Given the description of an element on the screen output the (x, y) to click on. 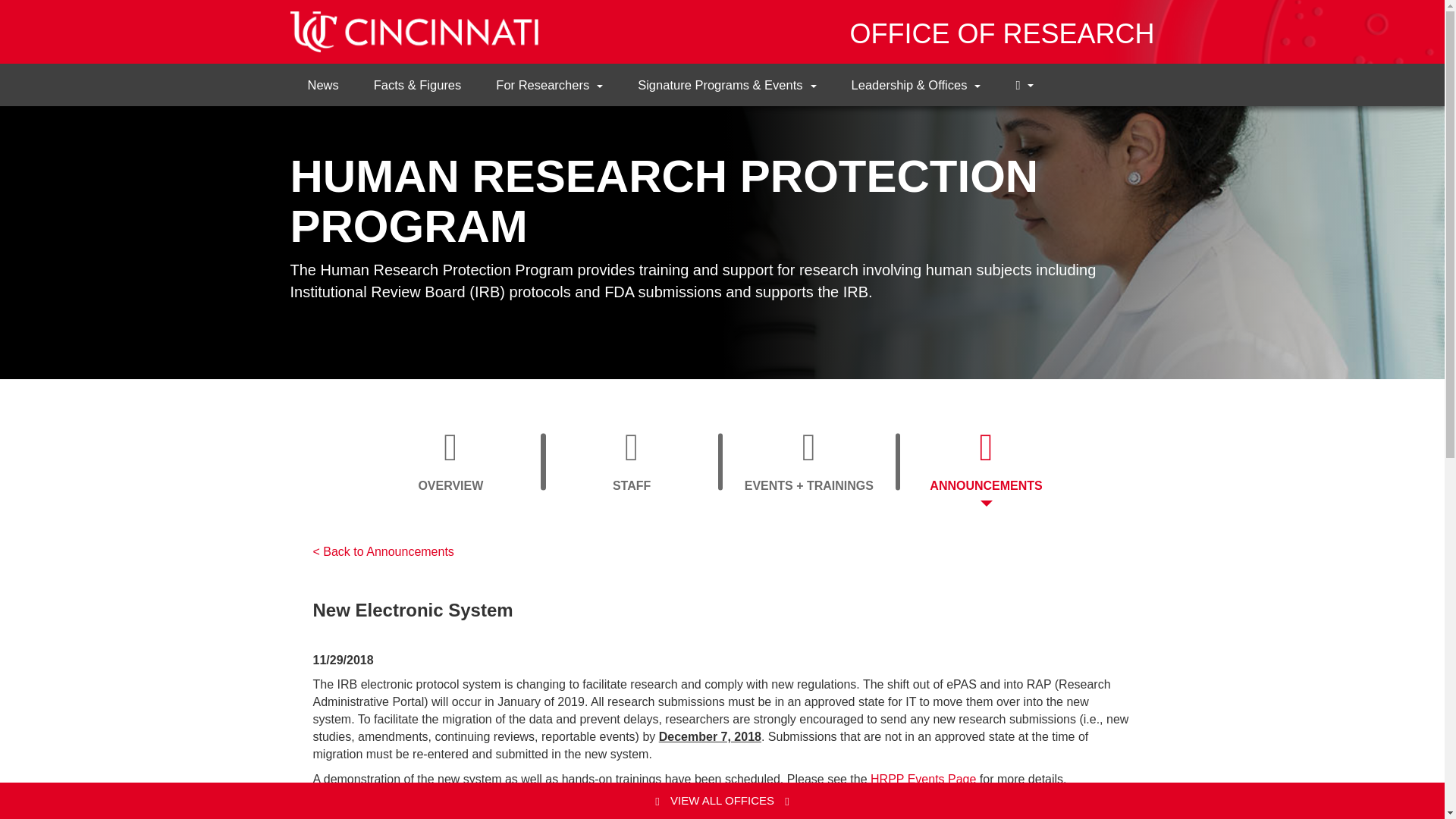
Toggle Search (986, 461)
HRPP Events Page (631, 461)
News (1024, 84)
For Researchers (451, 461)
OFFICE OF RESEARCH (922, 779)
